Given the description of an element on the screen output the (x, y) to click on. 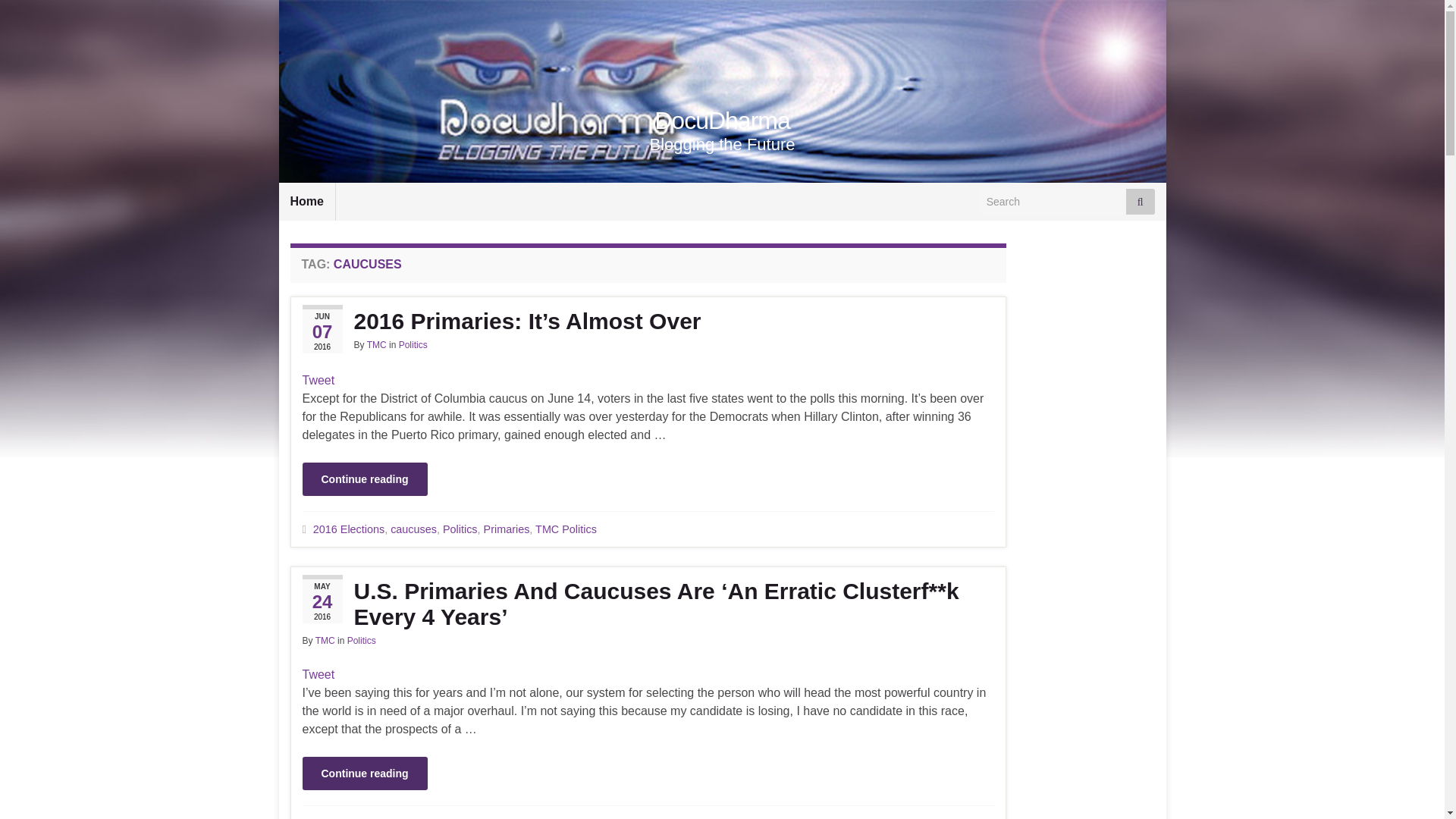
caucuses (413, 818)
Politics (459, 818)
caucuses (413, 529)
Primaries (506, 529)
Tweet (317, 379)
Home (306, 201)
TMC Politics (565, 818)
2016 Elections (348, 529)
2016 Elections (348, 818)
Primaries (506, 818)
Continue reading (363, 479)
Tweet (317, 674)
Politics (413, 344)
Go back to the front page (721, 120)
